Given the description of an element on the screen output the (x, y) to click on. 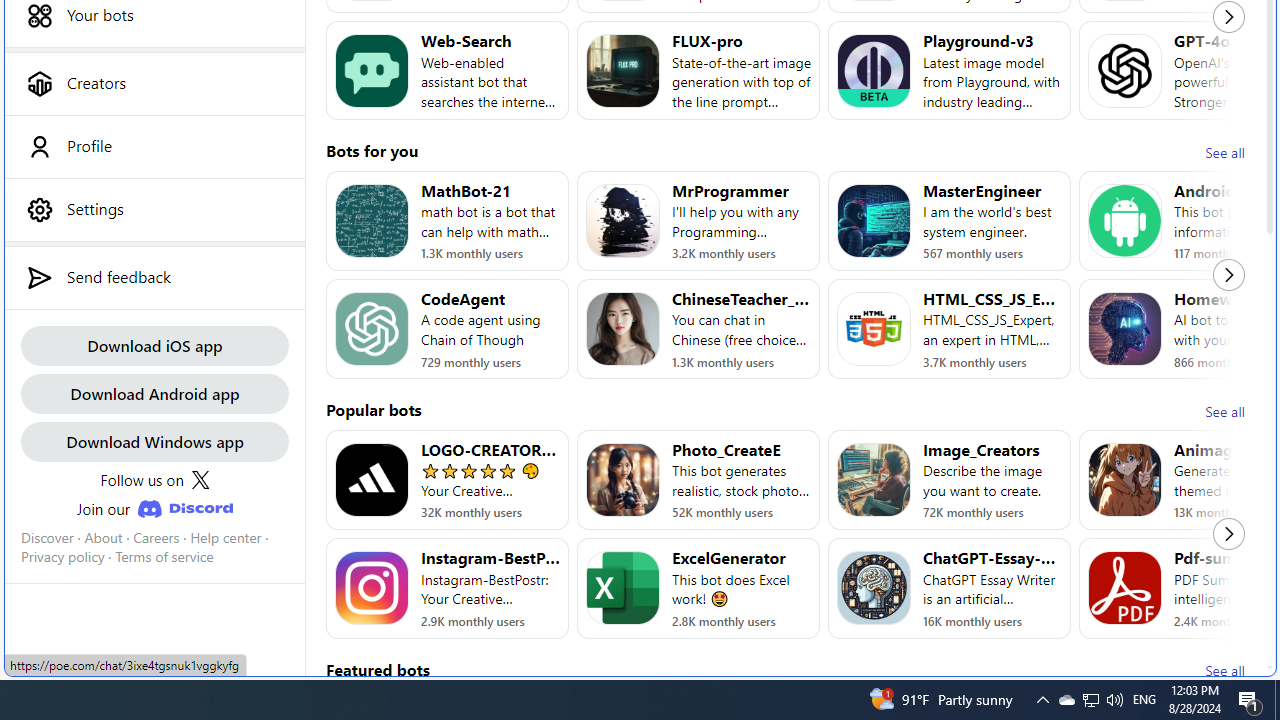
Privacy policy (62, 557)
Join our (154, 508)
Bot image for Web-Search (371, 70)
Bot image for MrProgrammer (623, 220)
Next (1229, 533)
Careers (156, 537)
About (103, 537)
Bot image for AndroidAssistant (1124, 220)
Send feedback (154, 277)
